Given the description of an element on the screen output the (x, y) to click on. 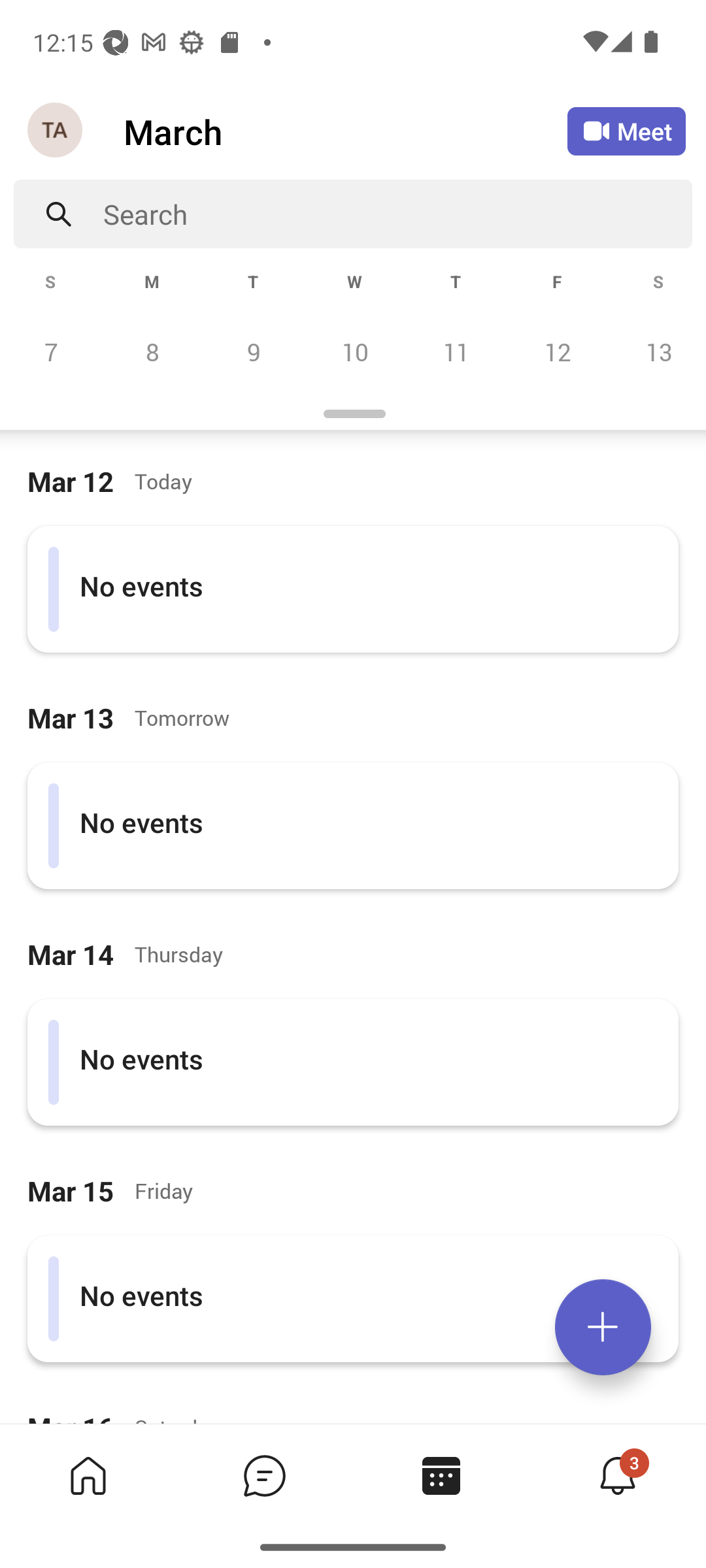
Navigation (56, 130)
Meet Meet now or join with an ID (626, 130)
March March Calendar Agenda View (345, 131)
Search (397, 213)
Sunday, April 7 7 (50, 351)
Monday, April 8 8 (151, 351)
Tuesday, April 9 9 (253, 351)
Wednesday, April 10 10 (354, 351)
Thursday, April 11 11 (455, 351)
Friday, April 12 12 (556, 351)
Saturday, April 13 13 (656, 351)
Expand meetings menu (602, 1327)
Home tab,1 of 4, not selected (88, 1475)
Chat tab,2 of 4, not selected (264, 1475)
Calendar tab, 3 of 4 (441, 1475)
Activity tab,4 of 4, not selected, 3 new 3 (617, 1475)
